Given the description of an element on the screen output the (x, y) to click on. 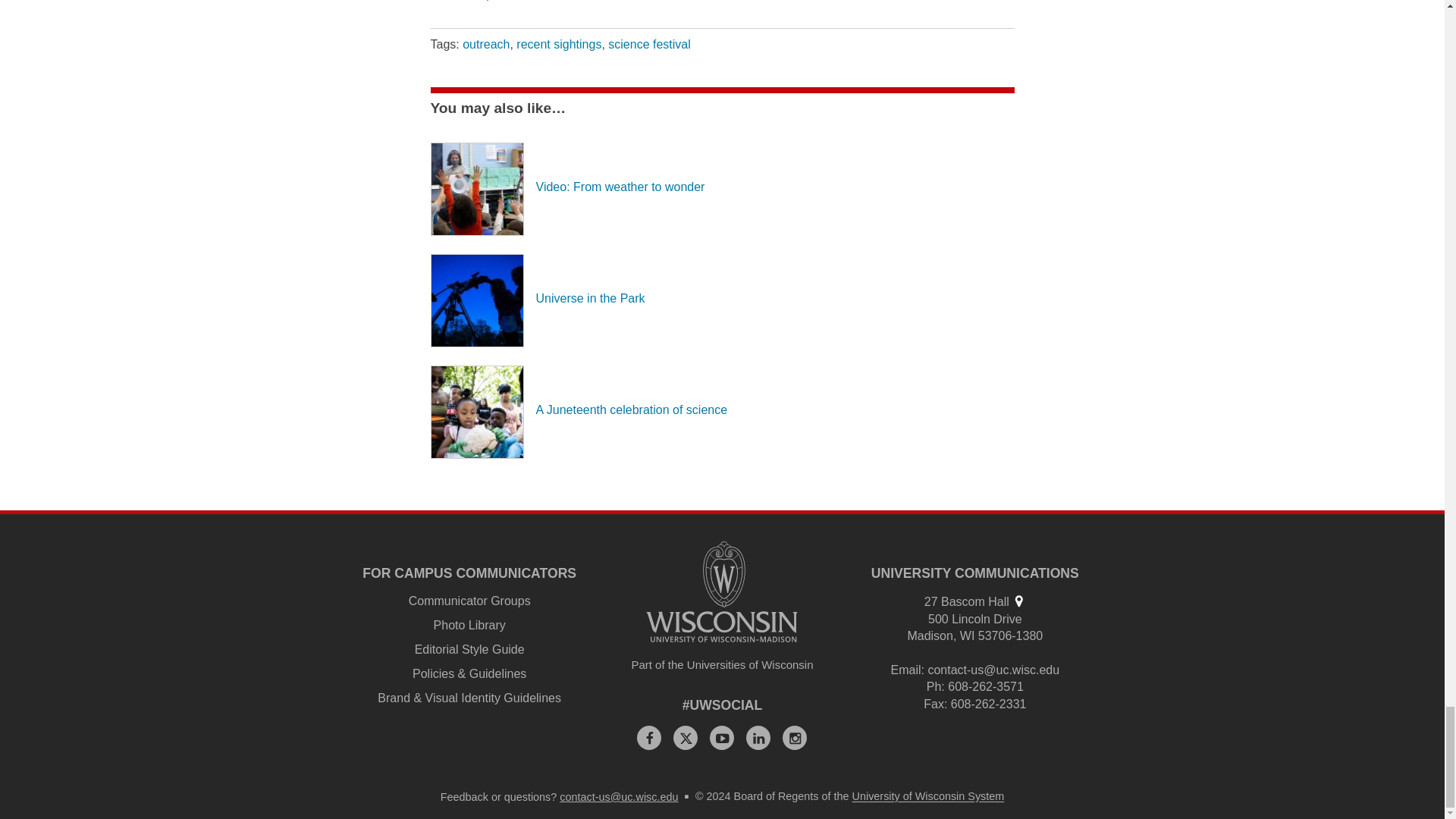
Linked In (757, 737)
Social media links (722, 704)
Facebook (649, 737)
University logo that links to main university website (721, 591)
phone (934, 686)
Instagram (794, 737)
X, formerly Twitter (684, 737)
Wisconsin (967, 635)
View on campus map (1018, 600)
YouTube (721, 737)
